Given the description of an element on the screen output the (x, y) to click on. 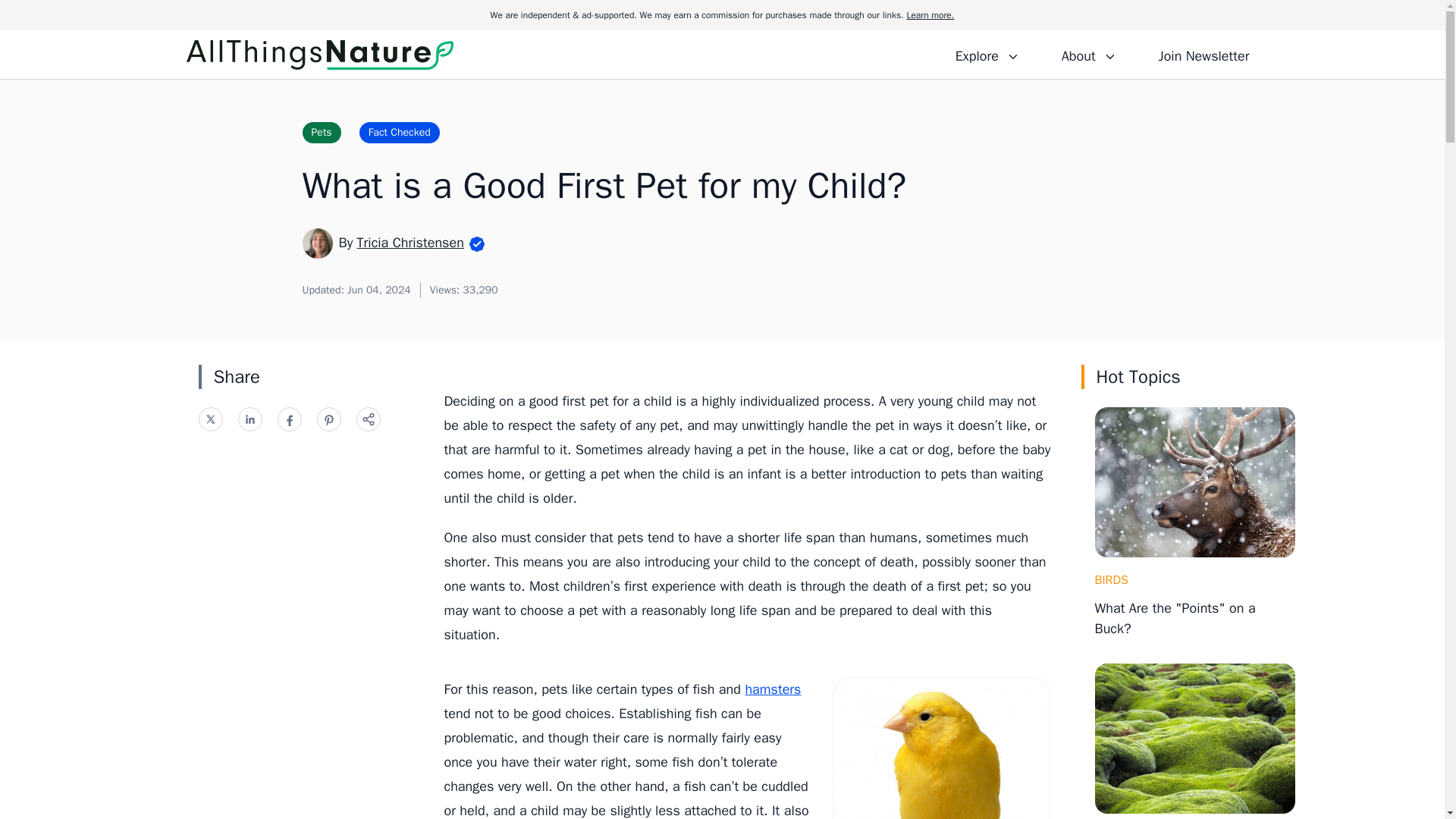
Join Newsletter (1202, 54)
Explore (986, 54)
Fact Checked (399, 132)
Tricia Christensen (410, 242)
Pets (320, 132)
About (1088, 54)
Learn more. (929, 15)
